Given the description of an element on the screen output the (x, y) to click on. 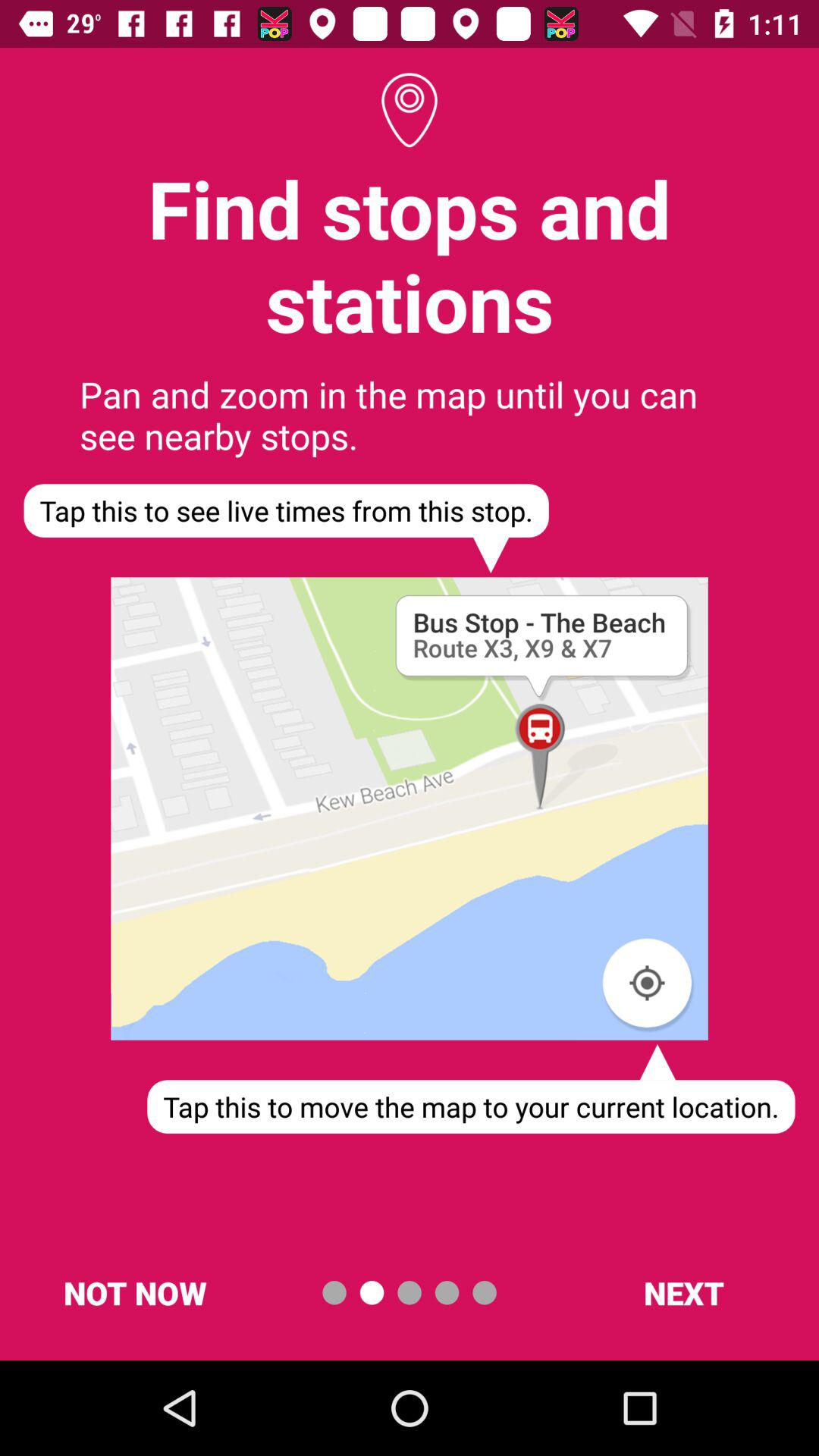
press next (683, 1292)
